Given the description of an element on the screen output the (x, y) to click on. 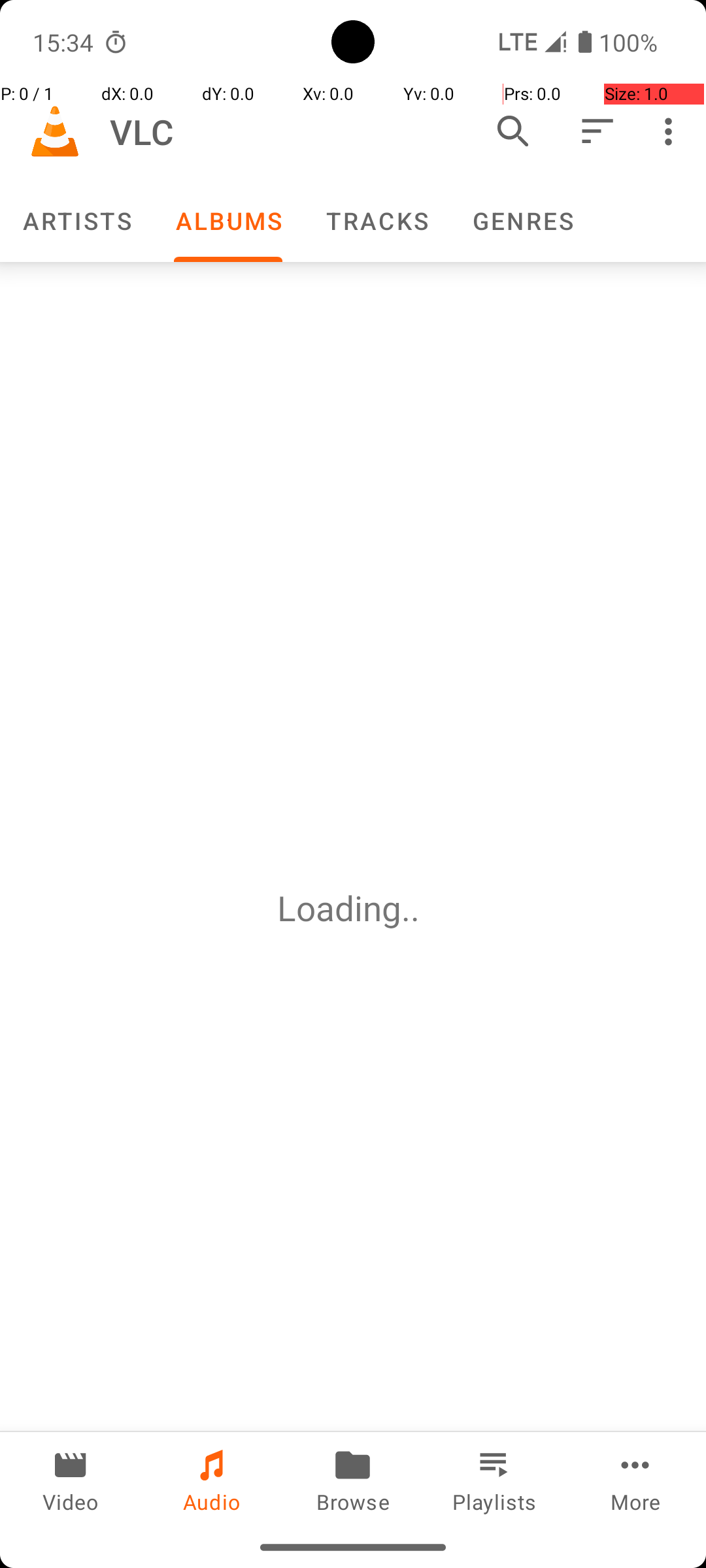
.. Element type: android.widget.TextView (414, 907)
